Given the description of an element on the screen output the (x, y) to click on. 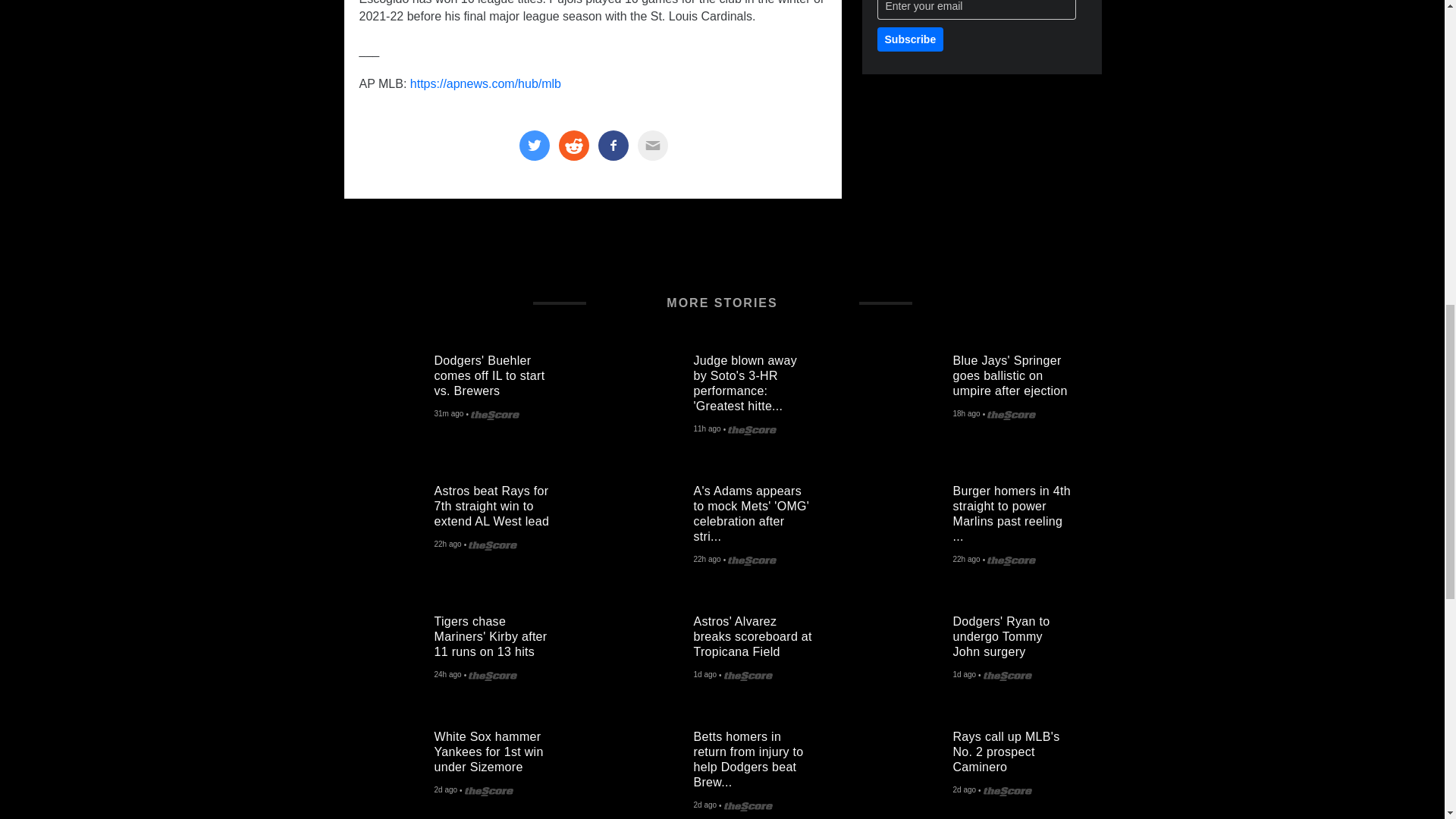
2024-08-14T01:28:24.000Z (706, 560)
Blue Jays' Springer goes ballistic on umpire after ejection (906, 387)
2024-08-14T12:34:34.000Z (706, 429)
Astros' Alvarez breaks scoreboard at Tropicana Field (647, 648)
Astros beat Rays for 7th straight win to extend AL West lead (388, 518)
Tigers chase Mariners' Kirby after 11 runs on 13 hits  (388, 648)
2024-08-13T23:40:24.000Z (704, 675)
2024-08-14T05:55:19.000Z (965, 414)
Dodgers' Buehler comes off IL to start vs. Brewers (388, 387)
2024-08-14T01:35:03.000Z (447, 544)
